Given the description of an element on the screen output the (x, y) to click on. 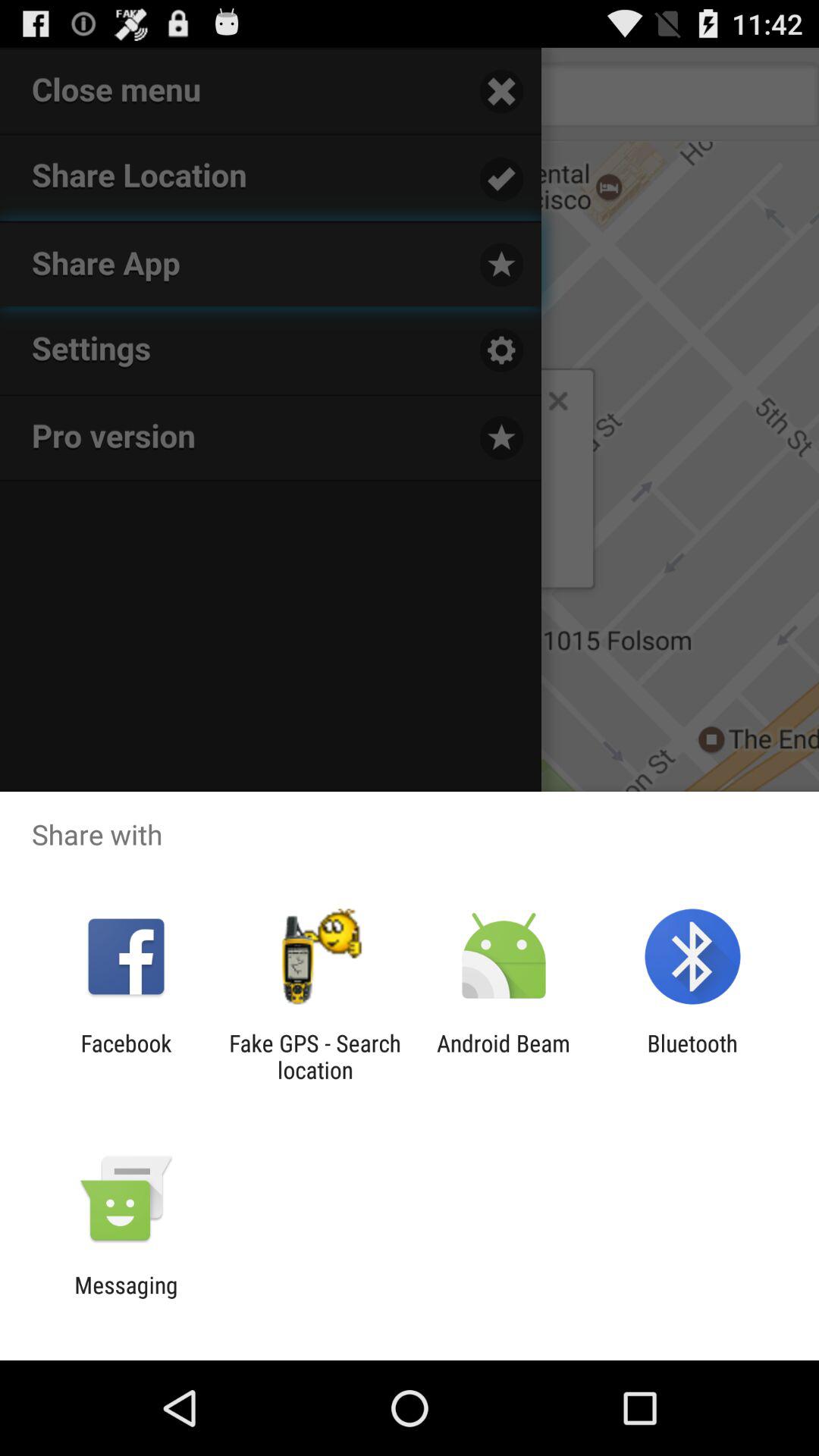
select the app to the left of fake gps search (125, 1056)
